Given the description of an element on the screen output the (x, y) to click on. 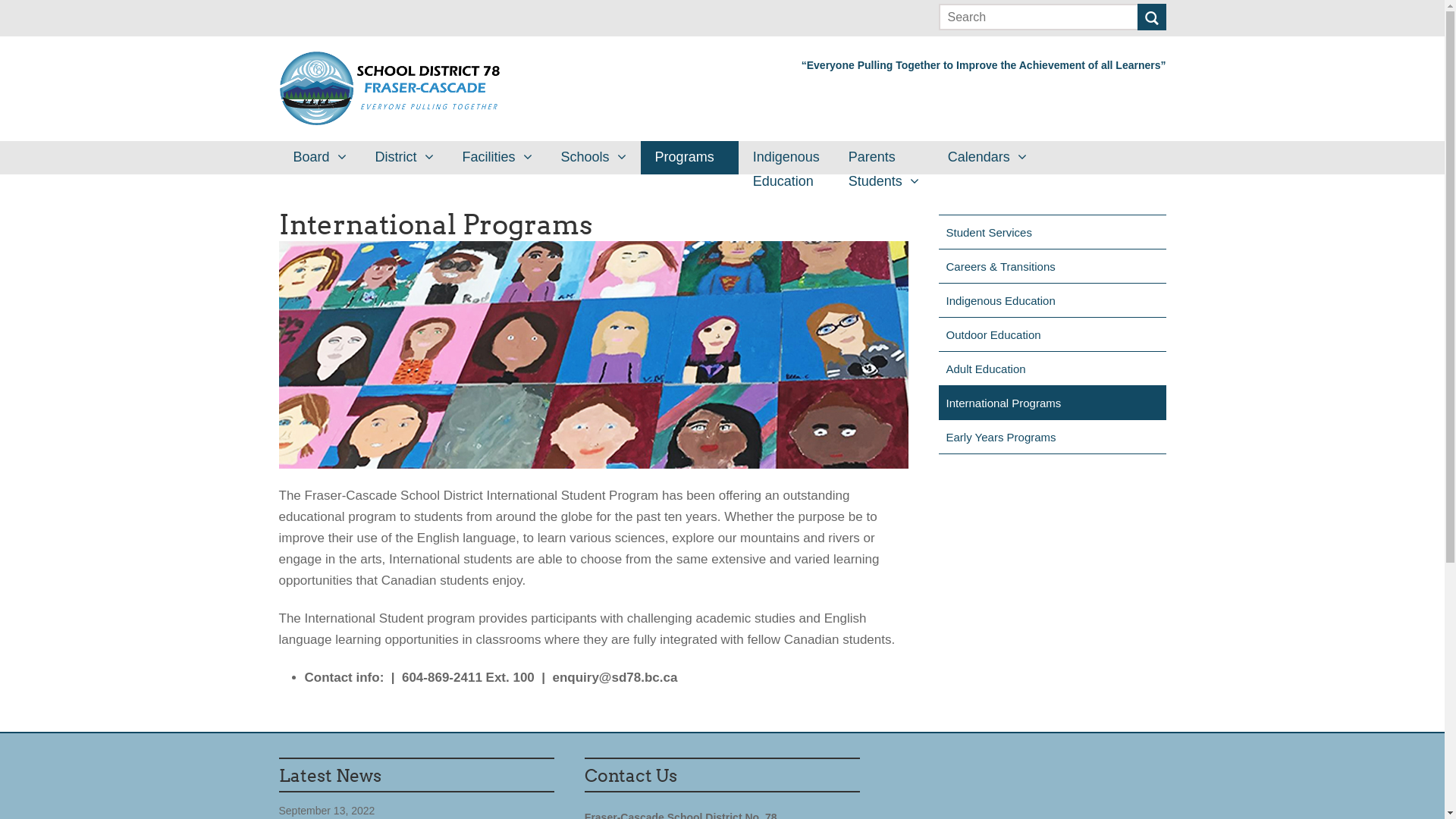
District Element type: text (404, 157)
International Programs Element type: text (1052, 402)
Facilities Element type: text (497, 157)
Calendars Element type: text (987, 157)
Search Element type: text (1151, 18)
Adult Education Element type: text (1052, 368)
Outdoor Education Element type: text (1052, 334)
Board Element type: text (319, 157)
Schools Element type: text (593, 157)
Early Years Programs Element type: text (1052, 436)
Careers & Transitions Element type: text (1052, 265)
Programs
Services Element type: text (689, 157)
Indigenous Education Element type: text (1052, 299)
Student Services Element type: text (1052, 231)
Indigenous
Education Element type: text (786, 157)
Parents
Students Element type: text (883, 157)
